Given the description of an element on the screen output the (x, y) to click on. 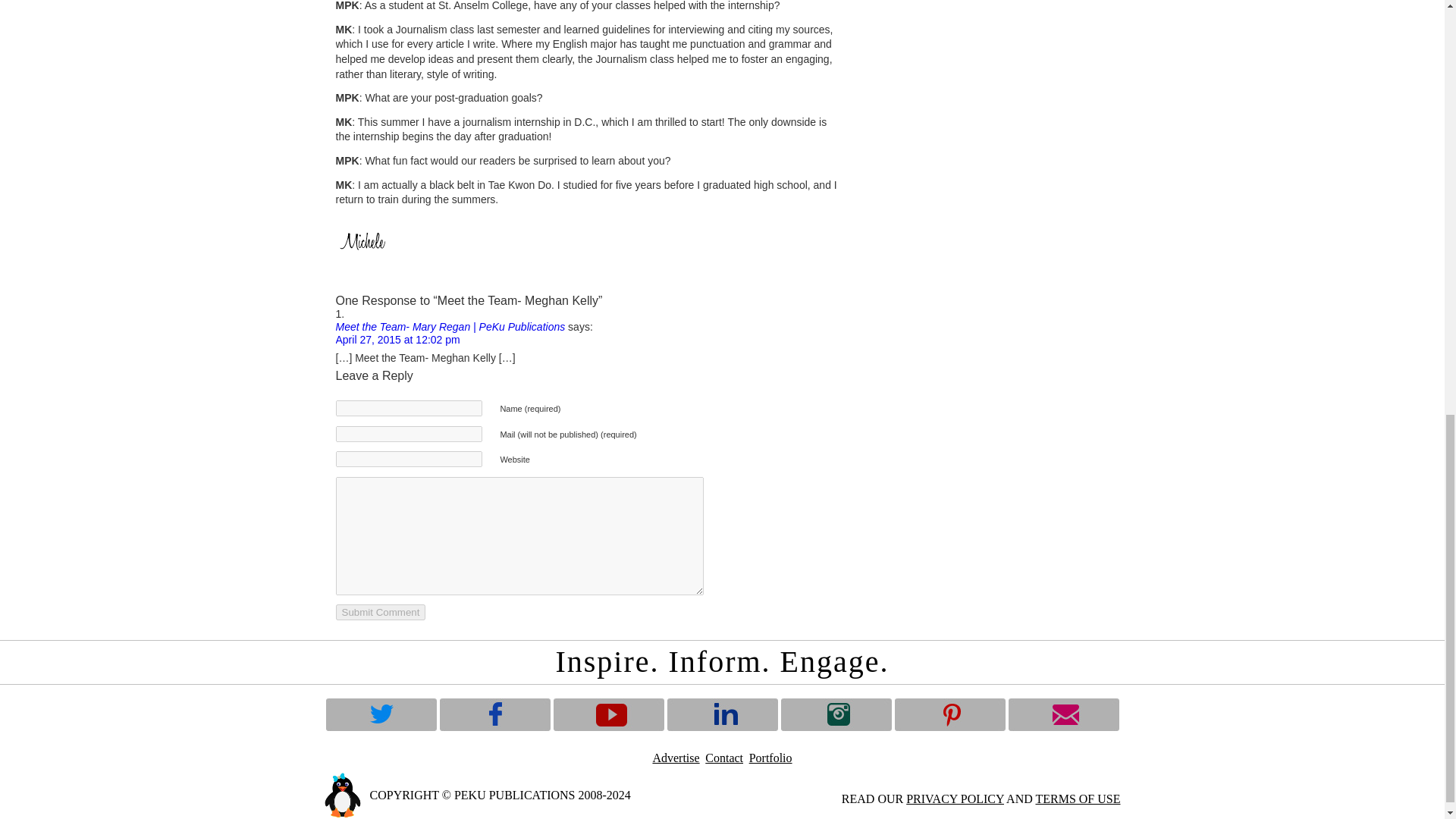
TERMS OF USE (1077, 798)
Portfolio (770, 757)
Submit Comment (379, 611)
PRIVACY POLICY (954, 798)
Advertise (675, 757)
Contact (723, 757)
April 27, 2015 at 12:02 pm (397, 339)
Submit Comment (379, 611)
